Given the description of an element on the screen output the (x, y) to click on. 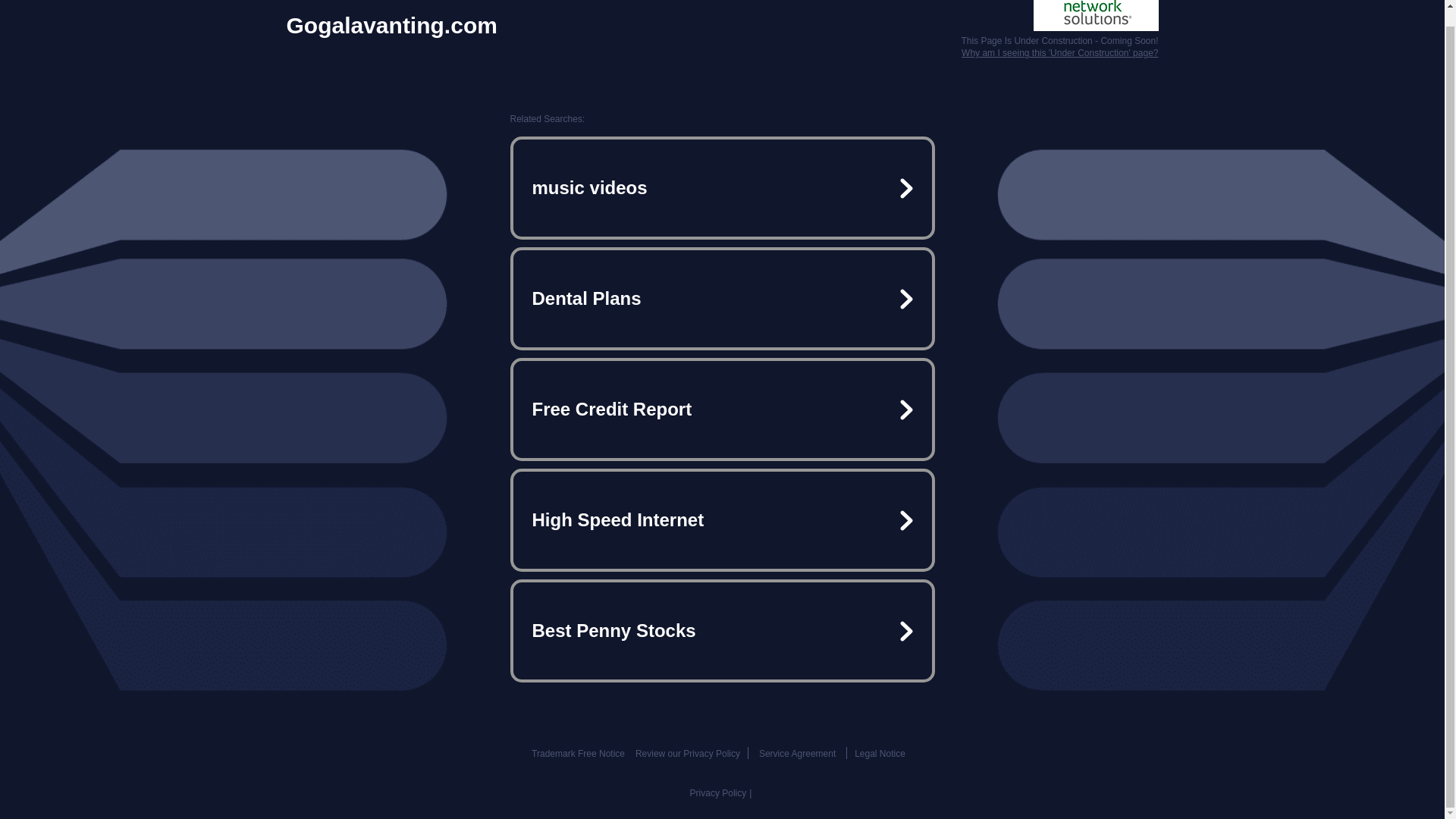
Service Agreement (796, 753)
Legal Notice (879, 753)
Review our Privacy Policy (686, 753)
Dental Plans (721, 298)
Best Penny Stocks (721, 630)
Best Penny Stocks (721, 630)
Privacy Policy (718, 792)
music videos (721, 187)
music videos (721, 187)
Trademark Free Notice (577, 753)
